Given the description of an element on the screen output the (x, y) to click on. 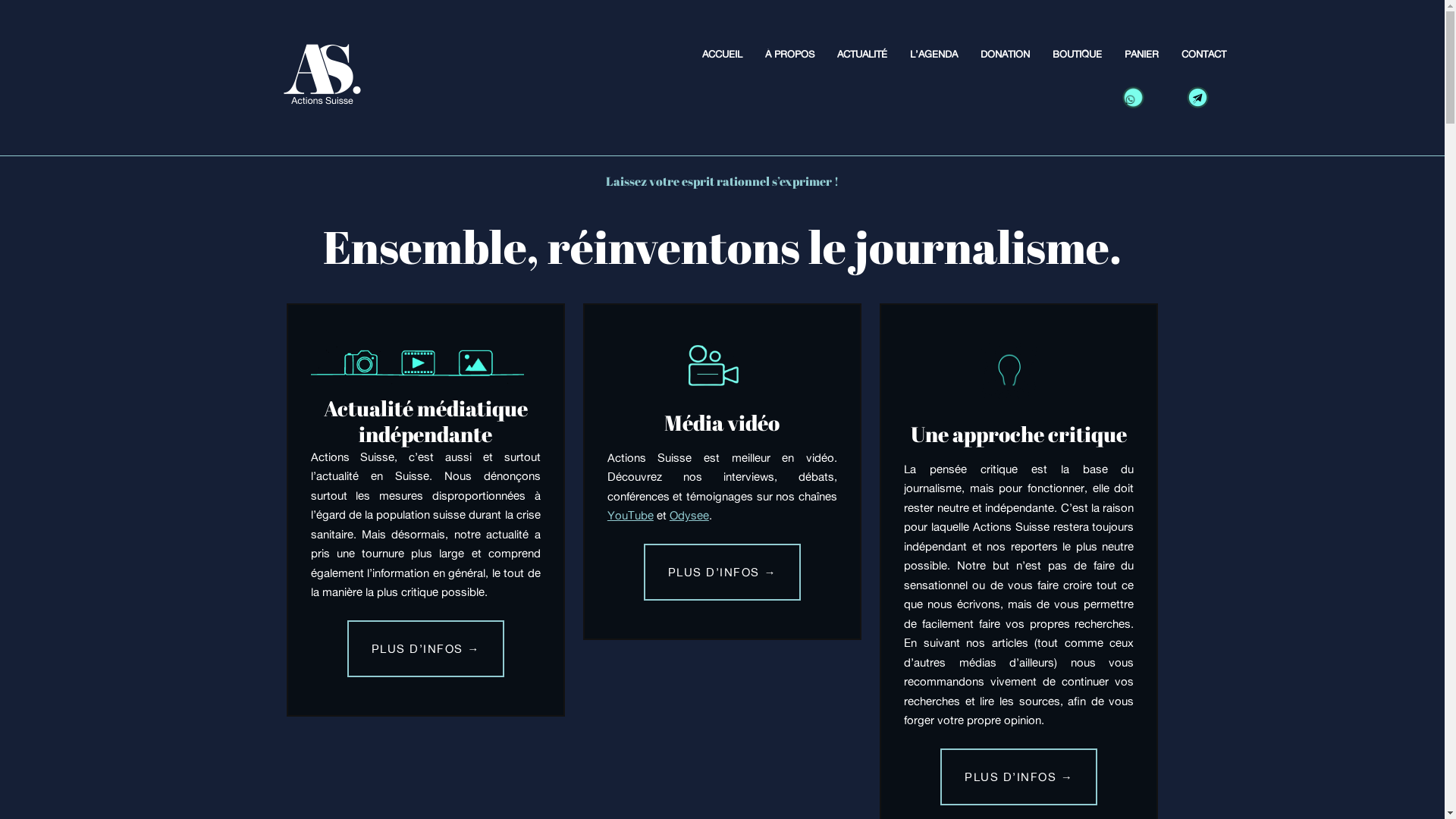
YouTube Element type: text (630, 514)
DONATION Element type: text (1004, 54)
BOUTIQUE Element type: text (1076, 54)
ACCUEIL Element type: text (722, 54)
PANIER Element type: text (1141, 54)
Odysee Element type: text (689, 514)
CONTACT Element type: text (1203, 54)
